Given the description of an element on the screen output the (x, y) to click on. 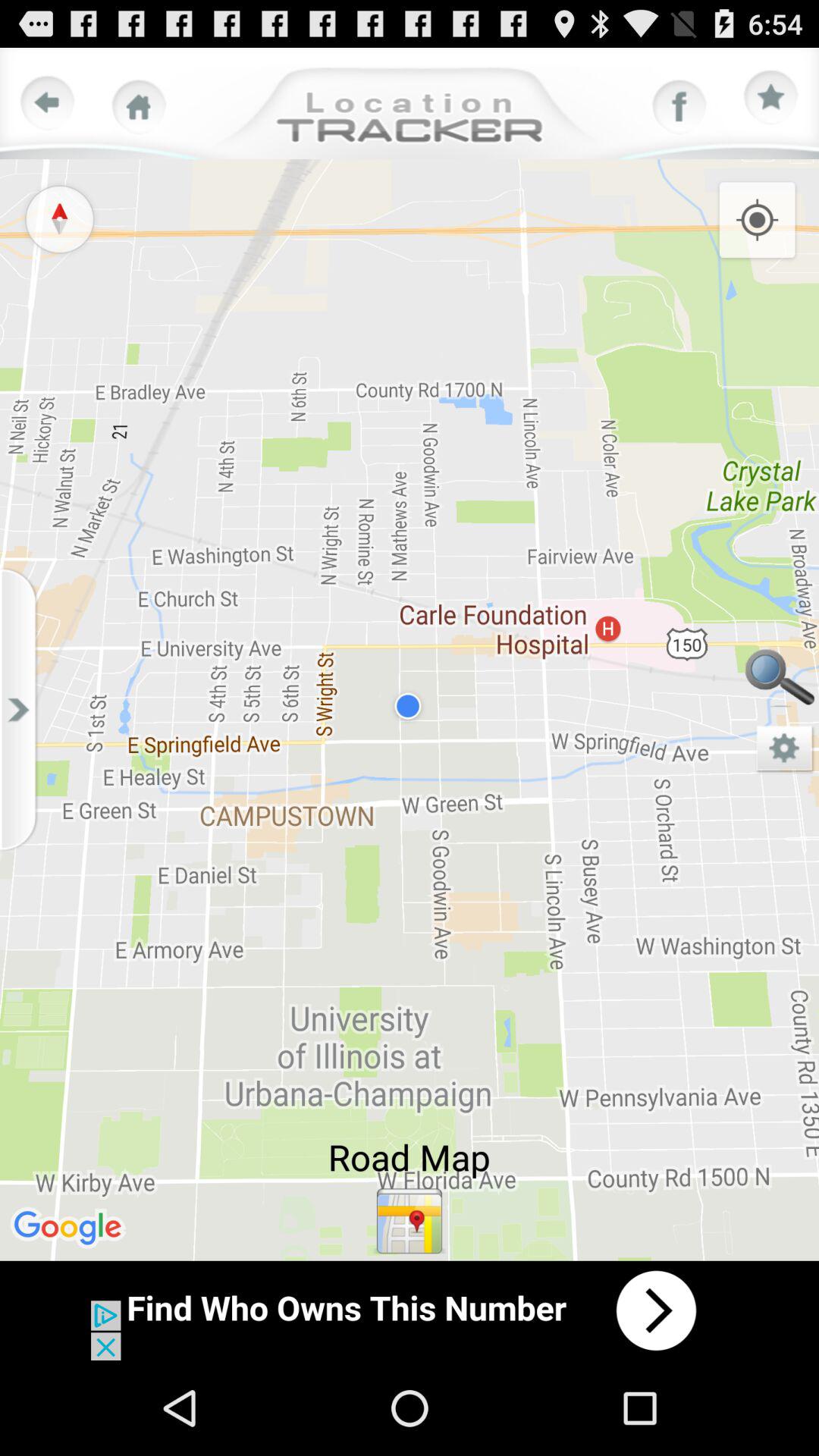
search (779, 680)
